Given the description of an element on the screen output the (x, y) to click on. 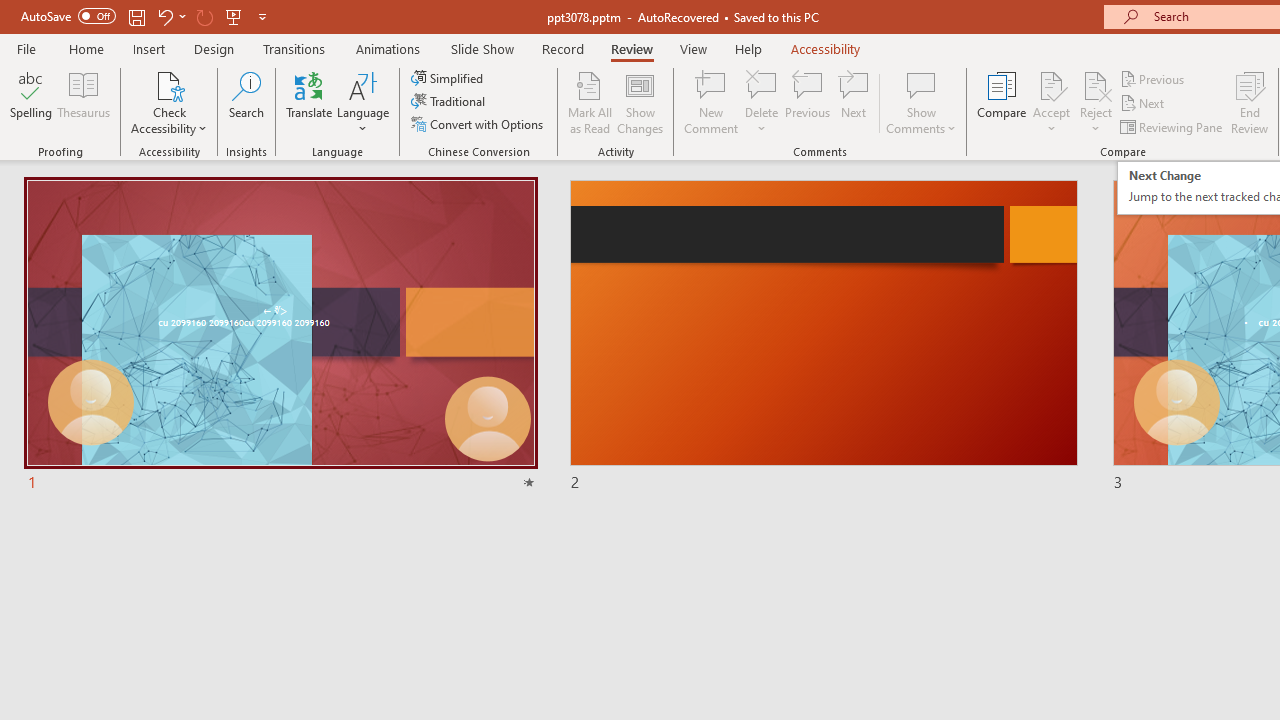
Accept (1051, 102)
Show Changes (639, 102)
Mark All as Read (589, 102)
Reject (1096, 102)
Reject Change (1096, 84)
Convert with Options... (479, 124)
Reviewing Pane (1172, 126)
